Given the description of an element on the screen output the (x, y) to click on. 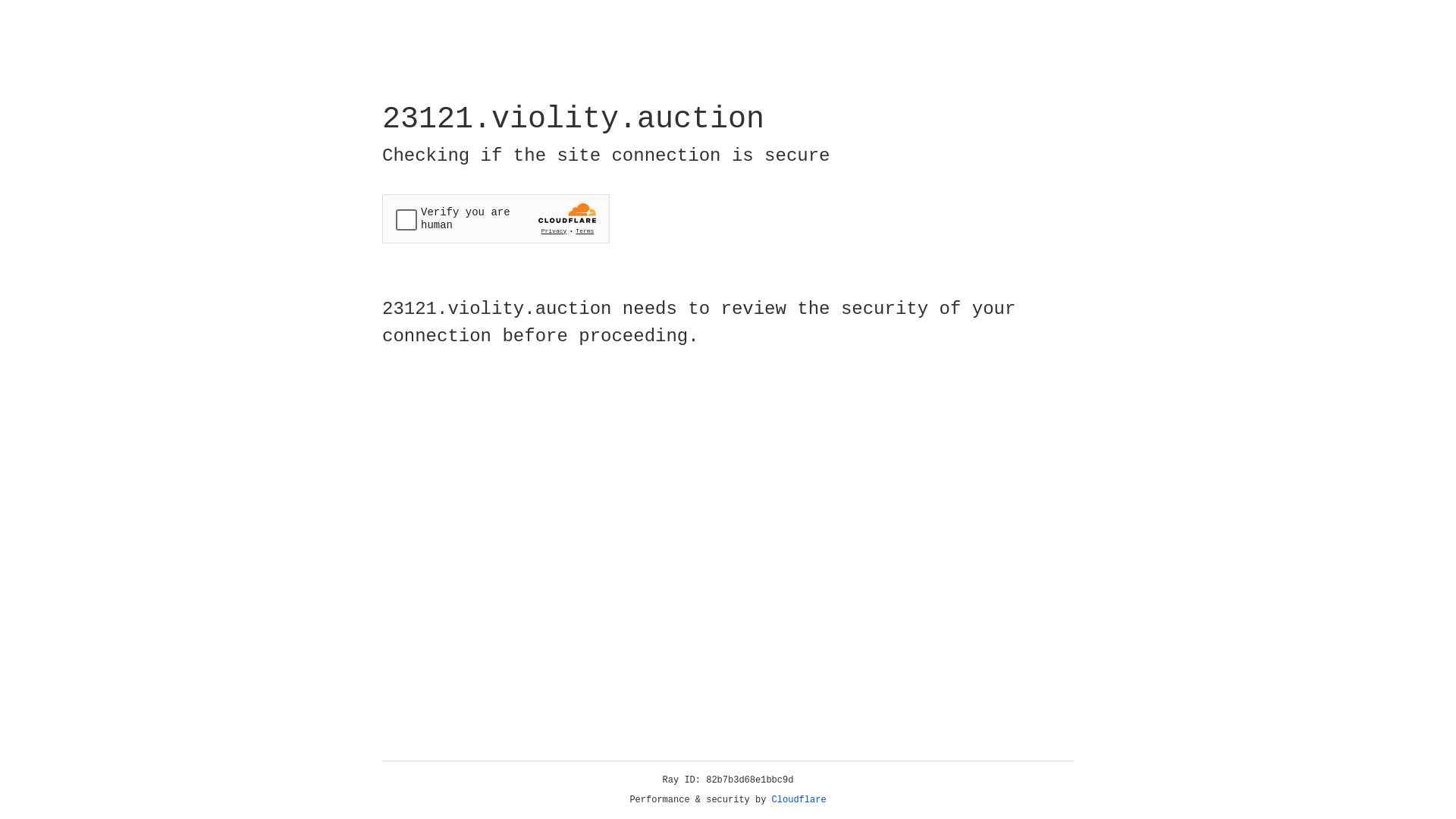
Widget containing a Cloudflare security challenge Element type: hover (495, 218)
Cloudflare Element type: text (798, 799)
